Given the description of an element on the screen output the (x, y) to click on. 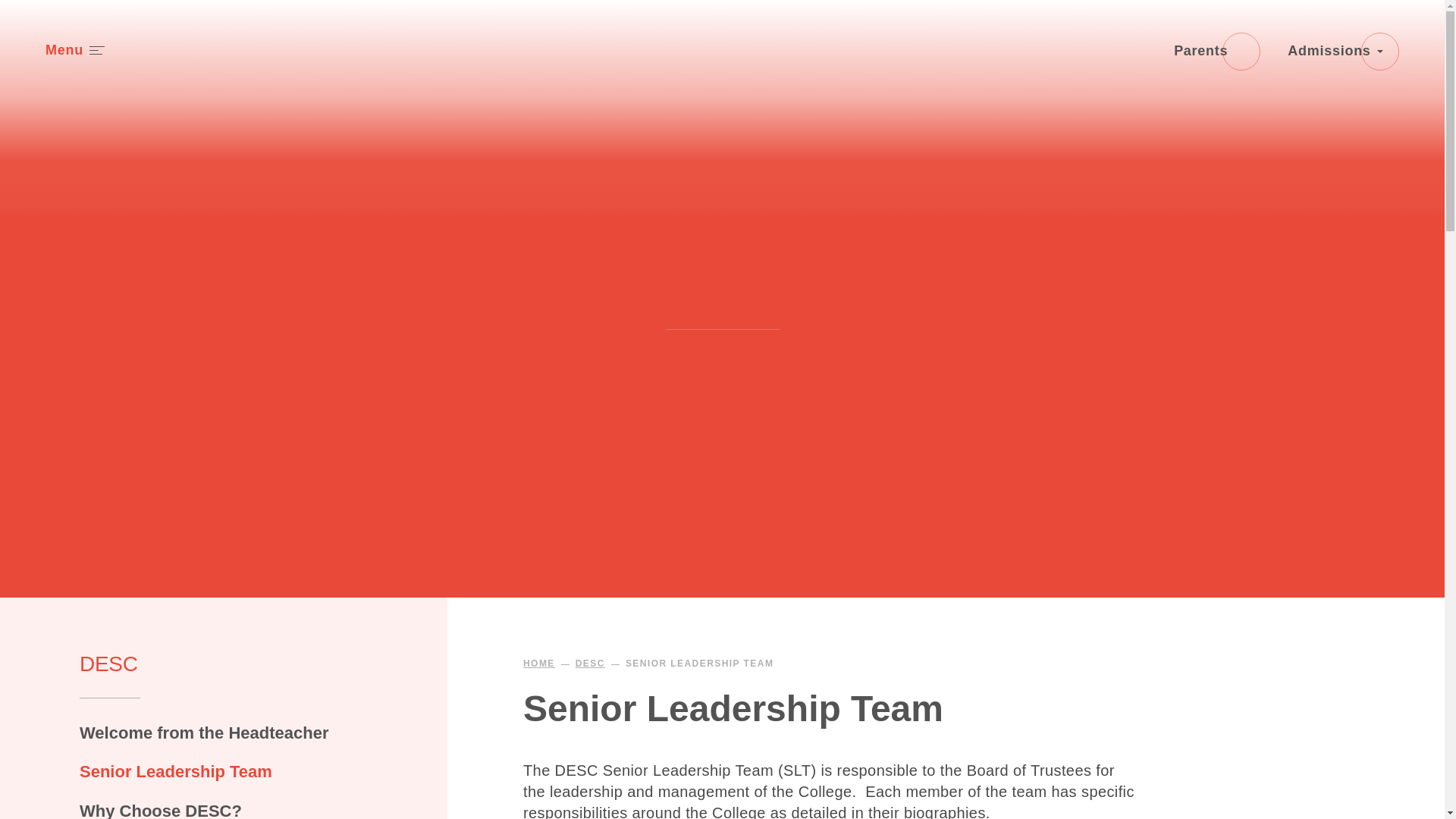
Contact us (1343, 51)
Open menu (74, 49)
Dubai English Speaking College (722, 68)
Parents (1216, 51)
Menu (74, 49)
Go to parents portal (1216, 51)
Admissions (1343, 51)
